Given the description of an element on the screen output the (x, y) to click on. 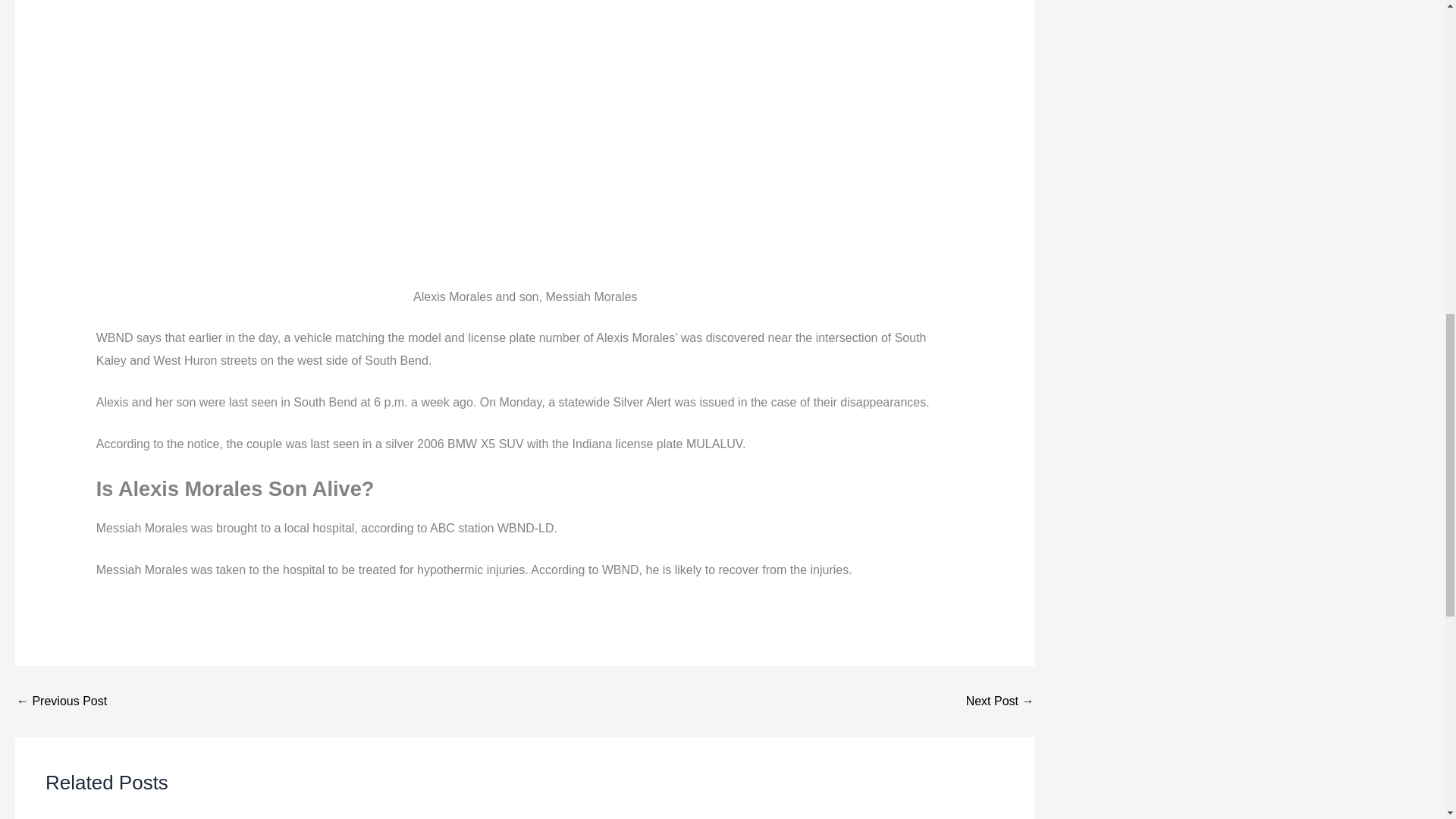
Where Is Alexis Morales son little Messiah? (999, 701)
